Given the description of an element on the screen output the (x, y) to click on. 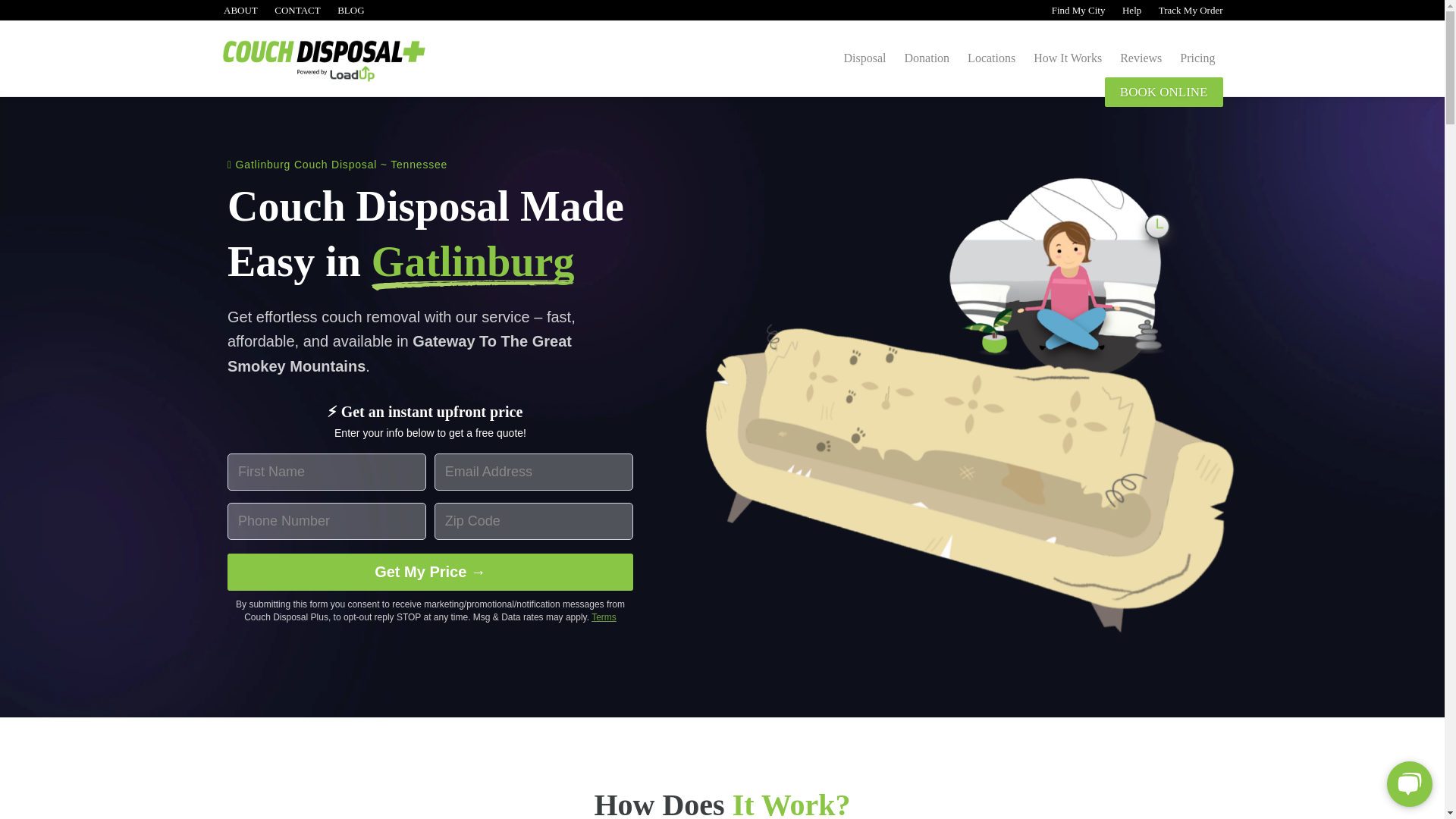
CONTACT (296, 10)
ABOUT (239, 10)
Reviews (1140, 57)
Help (1130, 10)
BLOG (350, 10)
Pricing (1197, 57)
How It Works (1067, 57)
Track My Order (1189, 10)
Donation (927, 57)
Couch Disposal Plus (348, 65)
Locations (991, 57)
BOOK ONLINE (1164, 91)
Disposal (864, 57)
Find My City (1077, 10)
Terms (603, 616)
